Given the description of an element on the screen output the (x, y) to click on. 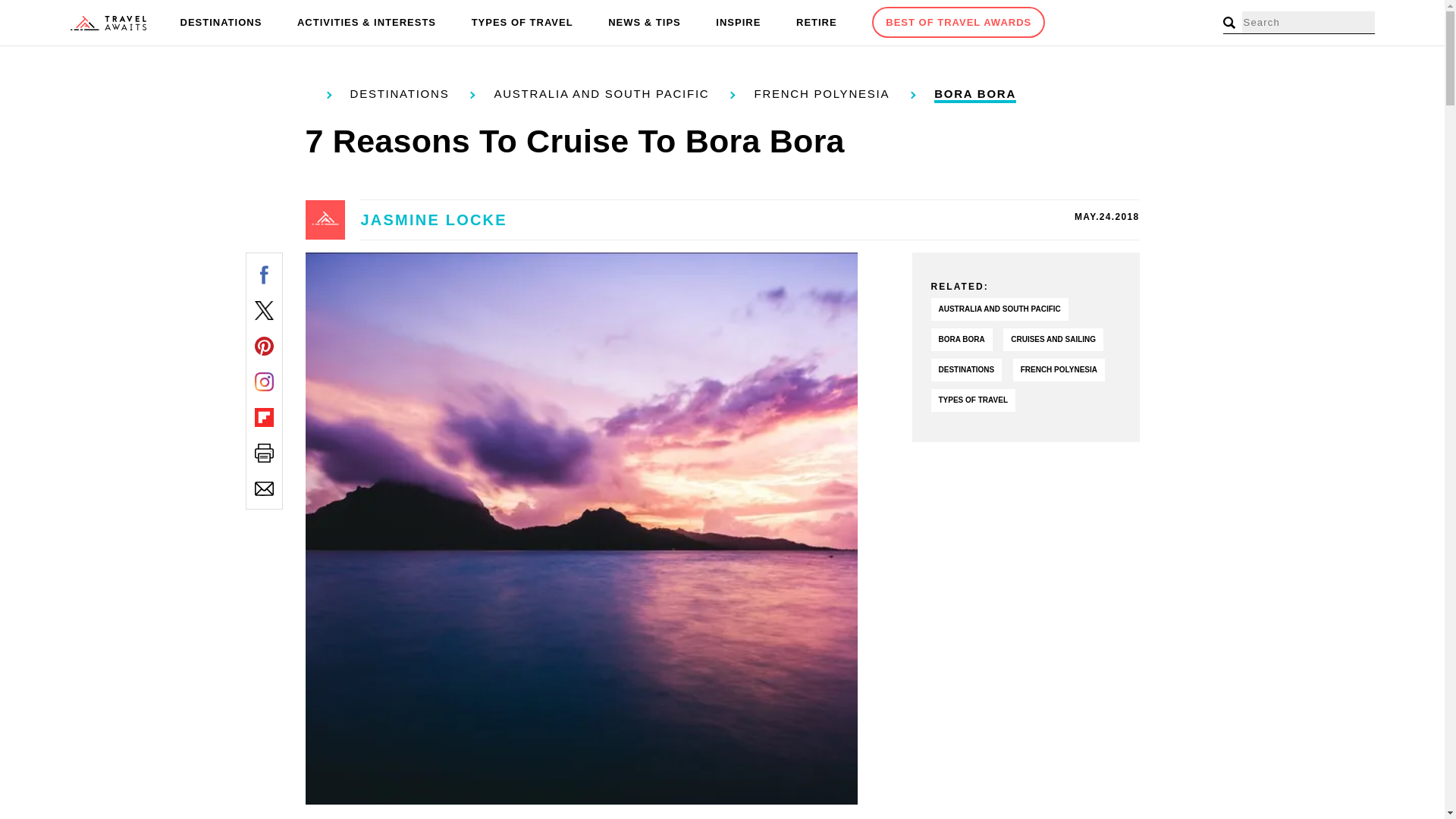
Facebook (263, 274)
Print (263, 452)
Twitter (263, 310)
Email (263, 488)
TravelAwaits (107, 22)
Instagram (263, 381)
Flipboard (263, 416)
DESTINATIONS (221, 22)
TYPES OF TRAVEL (522, 22)
